Given the description of an element on the screen output the (x, y) to click on. 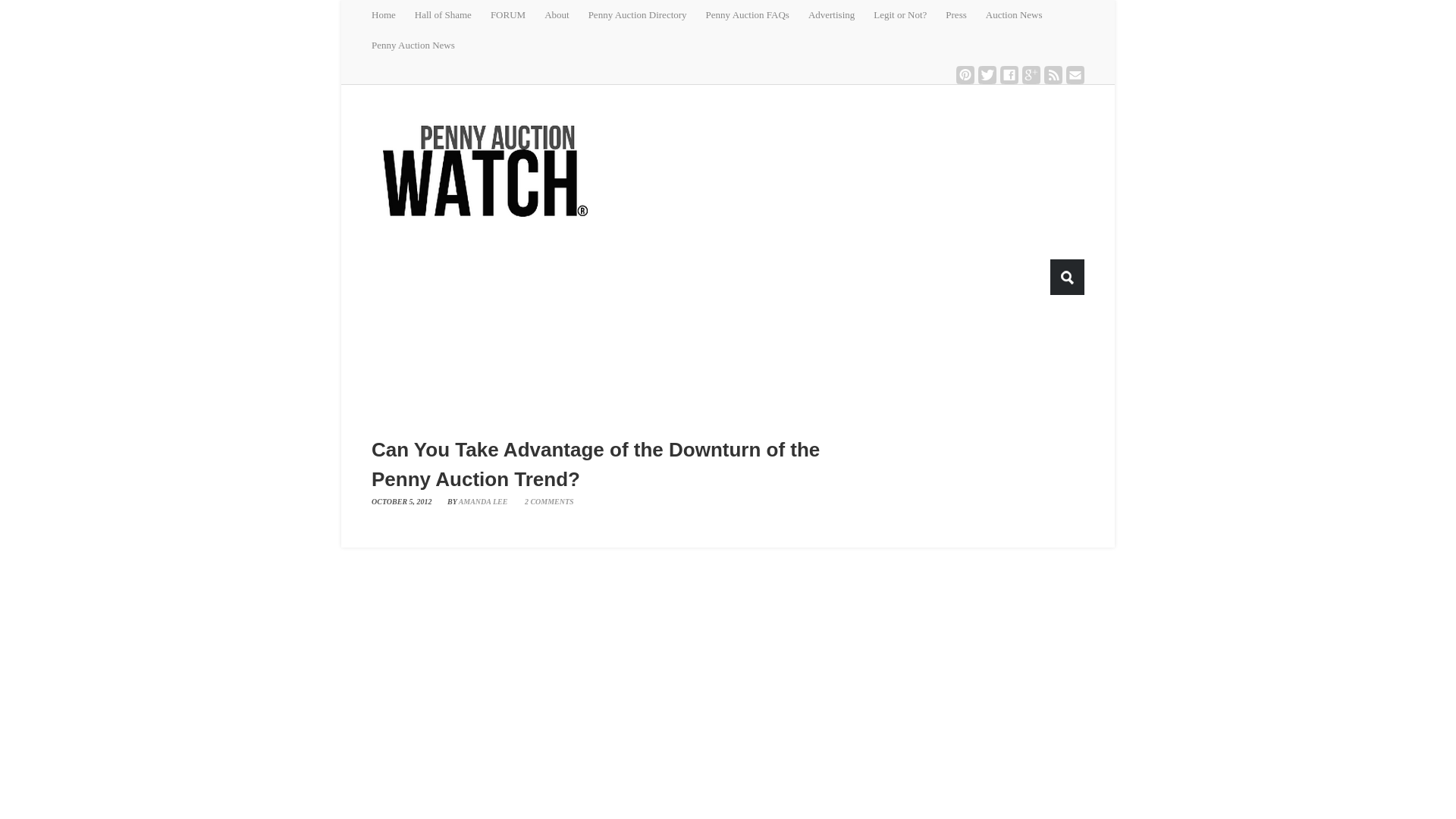
Press (964, 15)
Home (392, 15)
Penny Auction Forum (517, 15)
Advertisement (738, 365)
About (566, 15)
Hall of Shame (452, 15)
Penny Auction FAQs (757, 15)
RSS (1052, 75)
Legit or Not? (908, 15)
back to home page (485, 170)
Google Plus (1031, 75)
Email (1074, 75)
Penny Auction News (422, 45)
2012-10-05 (407, 501)
Twitter (986, 75)
